Given the description of an element on the screen output the (x, y) to click on. 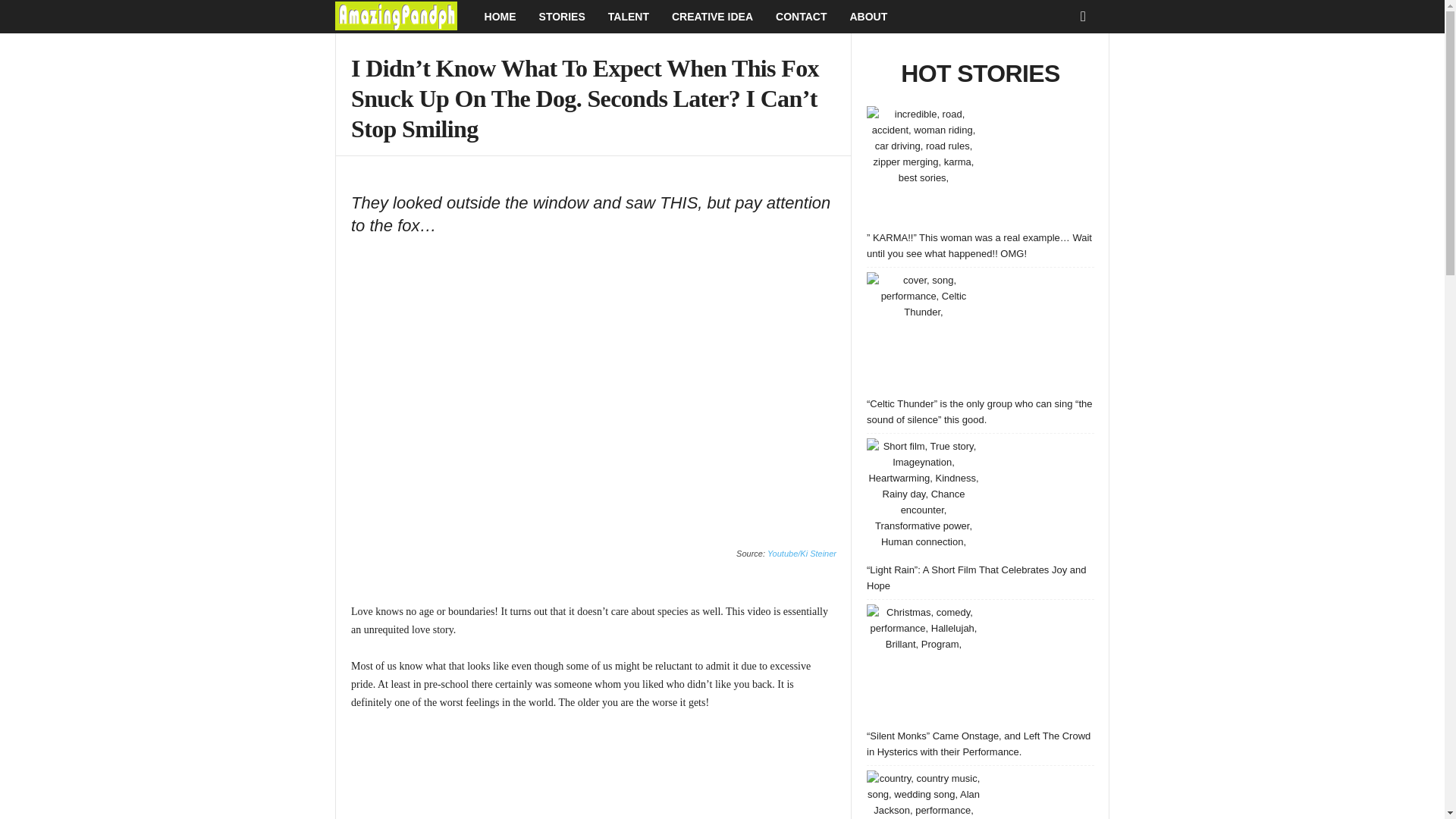
ABOUT (868, 16)
HOME (500, 16)
CREATIVE IDEA (712, 16)
TALENT (628, 16)
CONTACT (801, 16)
STORIES (561, 16)
AmazingPandph (403, 17)
